Given the description of an element on the screen output the (x, y) to click on. 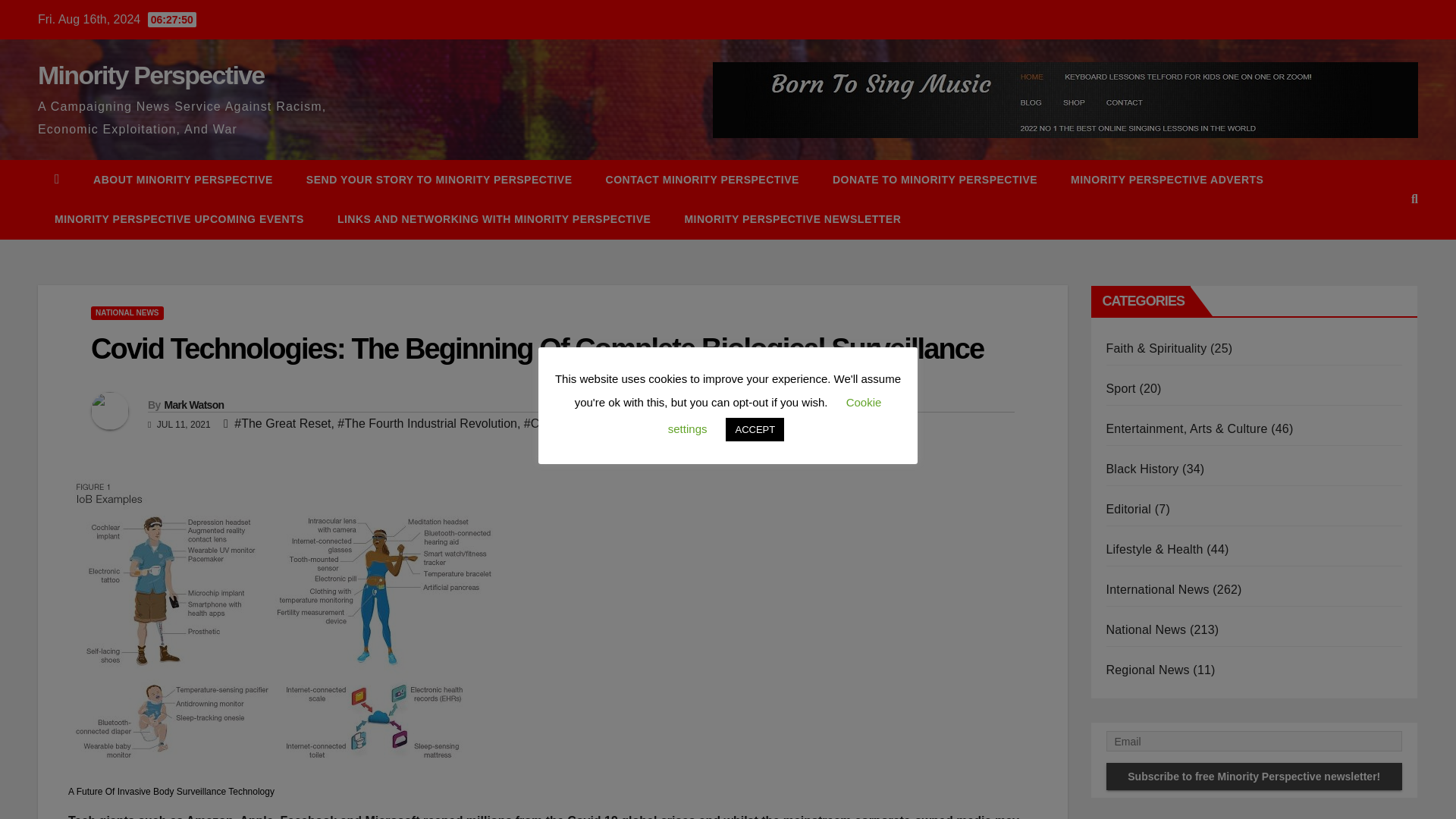
DONATE TO MINORITY PERSPECTIVE (934, 179)
ABOUT MINORITY PERSPECTIVE (183, 179)
About Minority Perspective (183, 179)
Subscribe to free Minority Perspective newsletter! (1253, 776)
NATIONAL NEWS (126, 313)
SEND YOUR STORY TO MINORITY PERSPECTIVE (439, 179)
MINORITY PERSPECTIVE UPCOMING EVENTS (178, 219)
Minority Perspective Adverts (1166, 179)
Mark Watson (193, 404)
Links And Networking With Minority Perspective (493, 219)
